Given the description of an element on the screen output the (x, y) to click on. 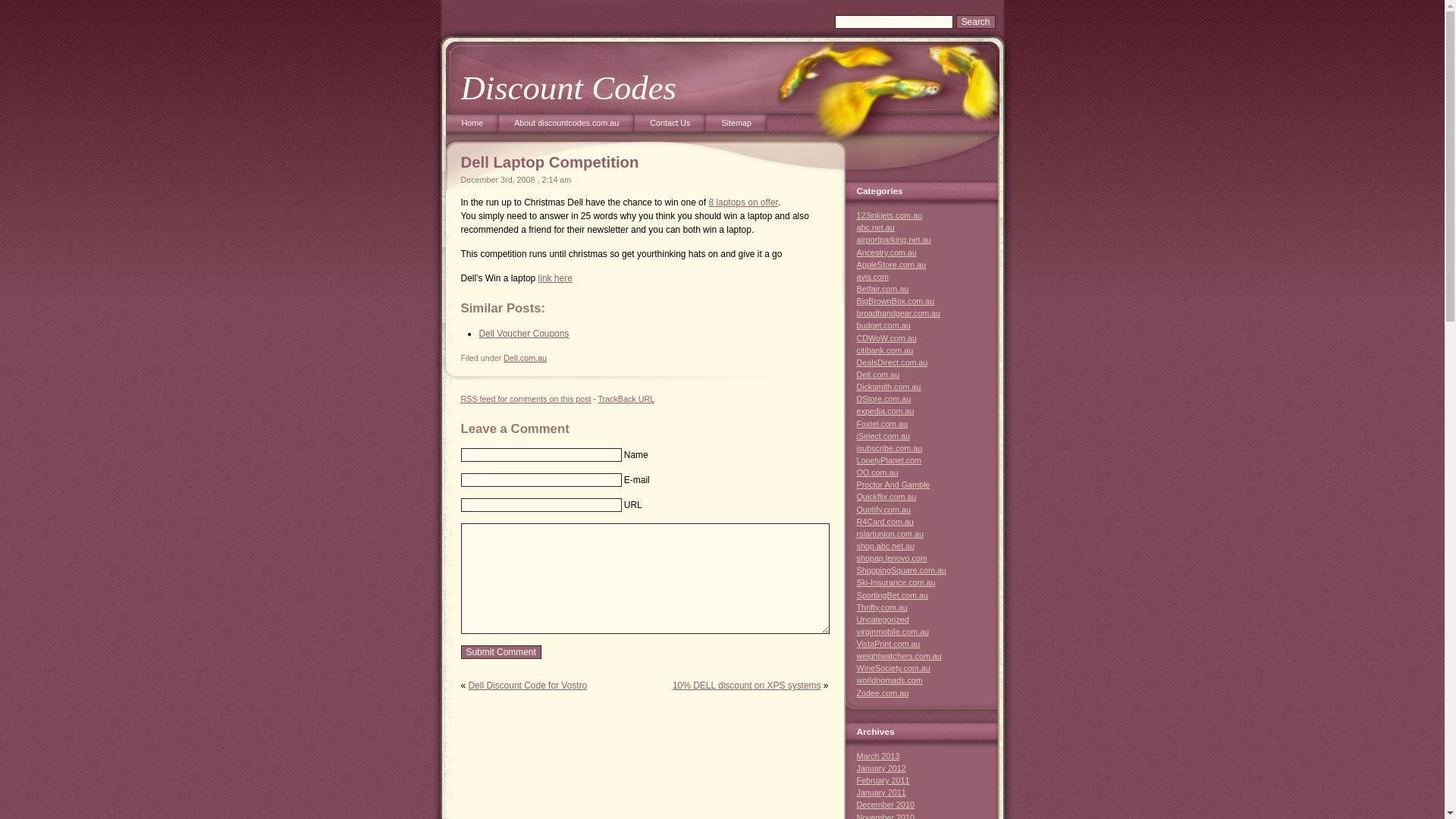
LonelyPlanet.com Element type: text (888, 459)
R4Card.com.au Element type: text (884, 521)
Thrifty.com.au Element type: text (881, 606)
Discount Codes Element type: text (568, 87)
citibank.com.au Element type: text (884, 349)
Ancestry.com.au Element type: text (886, 252)
isubscribe.com.au Element type: text (889, 447)
avis.com Element type: text (872, 276)
Home Element type: text (471, 125)
March 2013 Element type: text (878, 755)
DStore.com.au Element type: text (883, 398)
CDWoW.com.au Element type: text (886, 337)
About discountcodes.com.au Element type: text (566, 125)
Foxtel.com.au Element type: text (882, 423)
Dell Discount Code for Vostro Element type: text (526, 685)
Quickflix.com.au Element type: text (886, 496)
Betfair.com.au Element type: text (882, 288)
DealsDirect.com.au Element type: text (892, 362)
expedia.com.au Element type: text (885, 410)
link here Element type: text (555, 278)
January 2012 Element type: text (881, 767)
VistaPrint.com.au Element type: text (888, 643)
TrackBack URL Element type: text (625, 398)
Zodee.com.au Element type: text (882, 692)
worldnomads.com Element type: text (889, 679)
airportparking.net.au Element type: text (893, 239)
Uncategorized Element type: text (882, 619)
Dell Voucher Coupons Element type: text (523, 333)
rslartunion.com.au Element type: text (889, 533)
abc.net.au Element type: text (875, 227)
10% DELL discount on XPS systems Element type: text (746, 685)
SportingBet.com.au Element type: text (892, 594)
shopap.lenovo.com Element type: text (891, 557)
ShoppingSquare.com.au Element type: text (901, 569)
February 2011 Element type: text (883, 779)
Quotify.com.au Element type: text (883, 509)
January 2011 Element type: text (881, 792)
Dell Laptop Competition Element type: text (550, 161)
8 laptops on offer Element type: text (743, 202)
broadbandgear.com.au Element type: text (898, 312)
RSS feed for comments on this post Element type: text (526, 398)
Dell.com.au Element type: text (878, 374)
iSelect.com.au Element type: text (883, 435)
budget.com.au Element type: text (883, 324)
BigBrownBox.com.au Element type: text (895, 300)
Submit Comment Element type: text (501, 651)
December 2010 Element type: text (885, 804)
Advertisement Element type: hover (654, 19)
WineSociety.com.au Element type: text (893, 667)
OO.com.au Element type: text (877, 471)
Contact Us Element type: text (670, 125)
Search Element type: text (975, 21)
weightwatchers.com.au Element type: text (898, 655)
Dell.com.au Element type: text (524, 357)
Ski-Insurance.com.au Element type: text (895, 581)
AppleStore.com.au Element type: text (890, 264)
virginmobile.com.au Element type: text (892, 631)
Proctor And Gamble Element type: text (893, 484)
shop.abc.net.au Element type: text (885, 545)
123inkjets.com.au Element type: text (889, 214)
Dicksmith.com.au Element type: text (888, 386)
Sitemap Element type: text (736, 125)
